Given the description of an element on the screen output the (x, y) to click on. 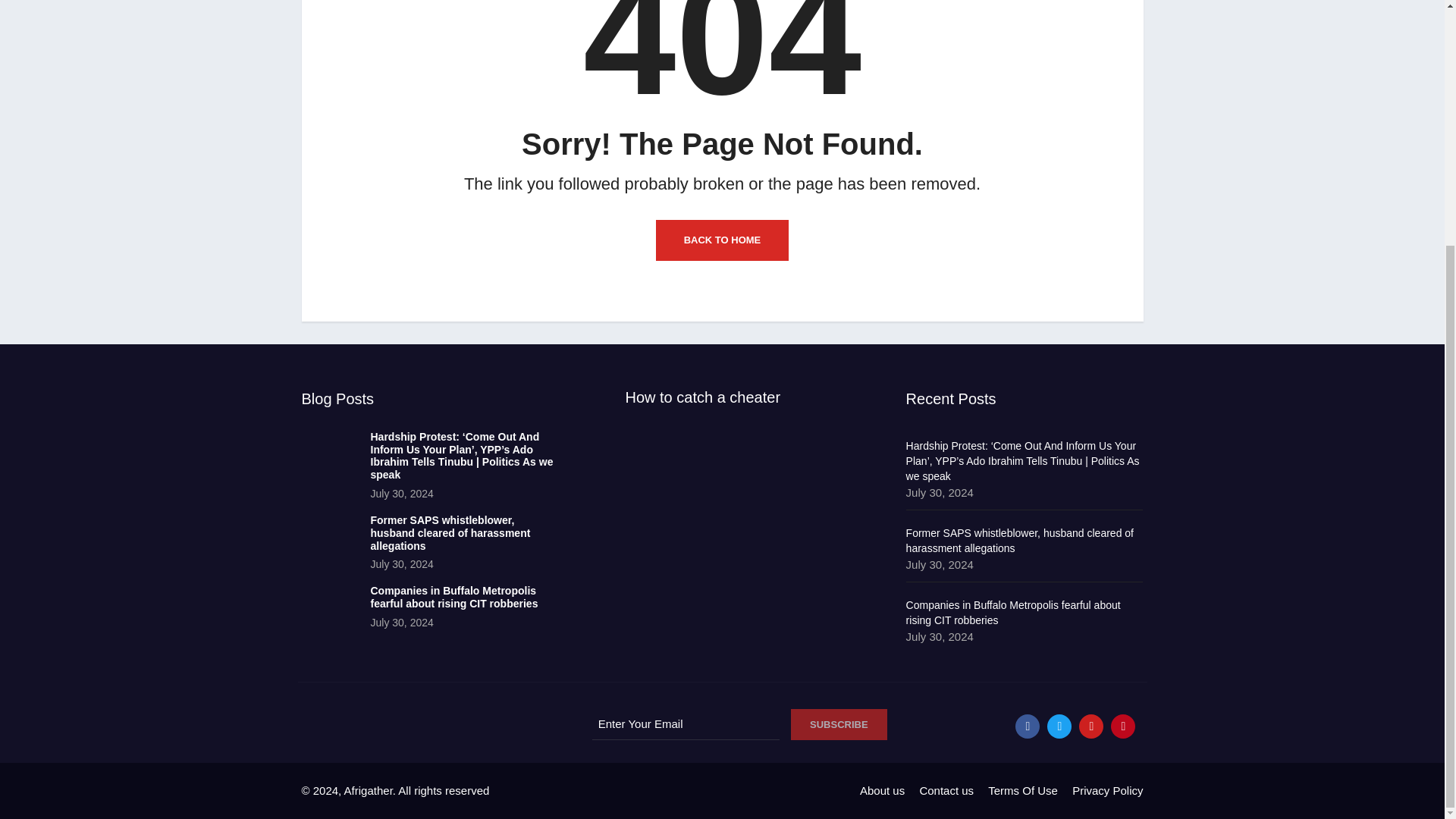
SUBSCRIBE (838, 724)
BACK TO HOME (722, 240)
Terms Of Use (1023, 789)
Contact us (946, 789)
About us (882, 789)
Privacy Policy (1106, 789)
